Given the description of an element on the screen output the (x, y) to click on. 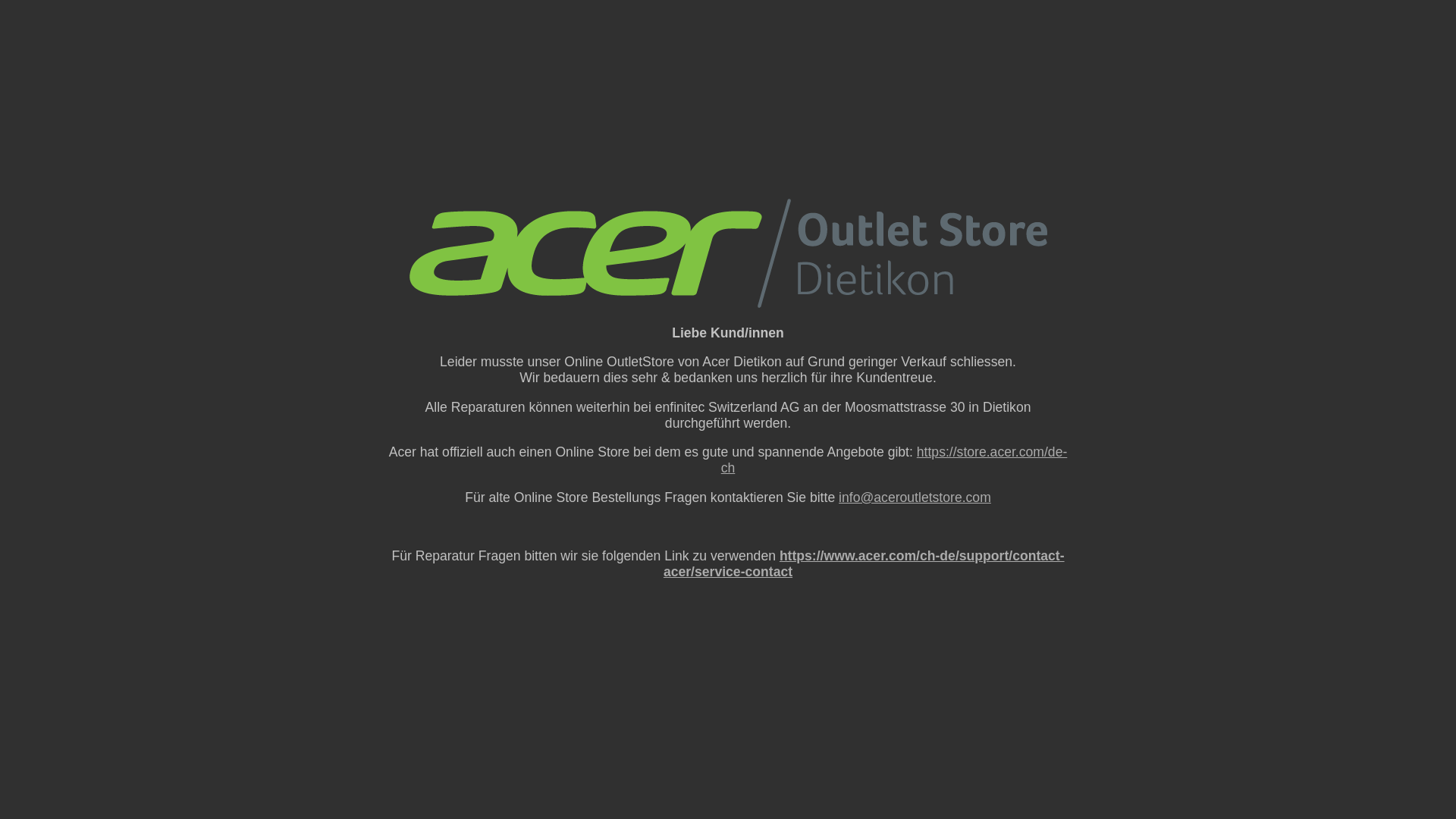
info@aceroutletstore.com Element type: text (914, 497)
https://store.acer.com/de-ch Element type: text (894, 459)
